Given the description of an element on the screen output the (x, y) to click on. 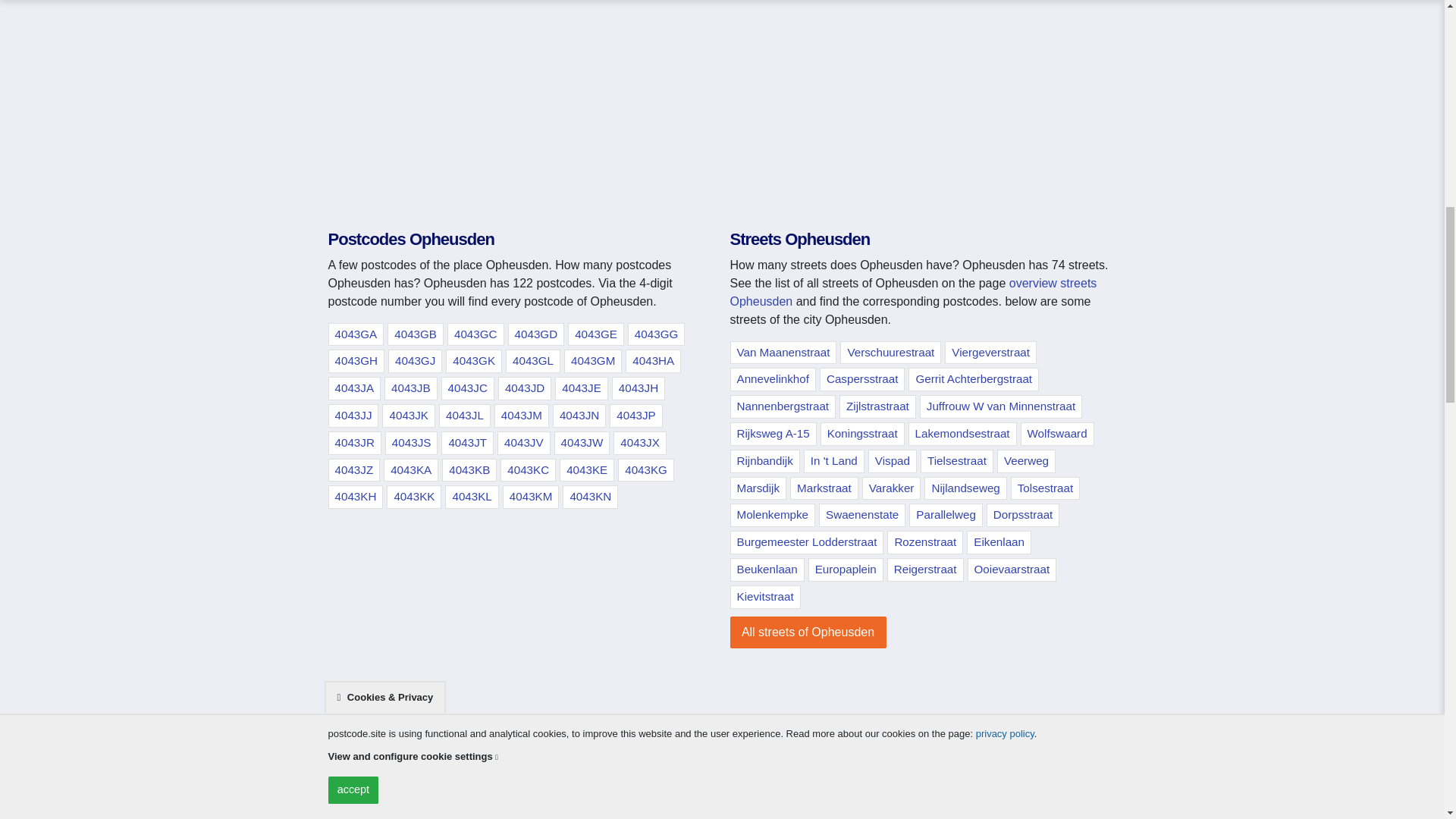
4043JE (581, 388)
4043GA (355, 334)
4043GC (474, 334)
4043JL (464, 415)
4043JD (524, 388)
4043GK (473, 361)
4043JC (468, 388)
4043GB (415, 334)
4043JA (353, 388)
